Given the description of an element on the screen output the (x, y) to click on. 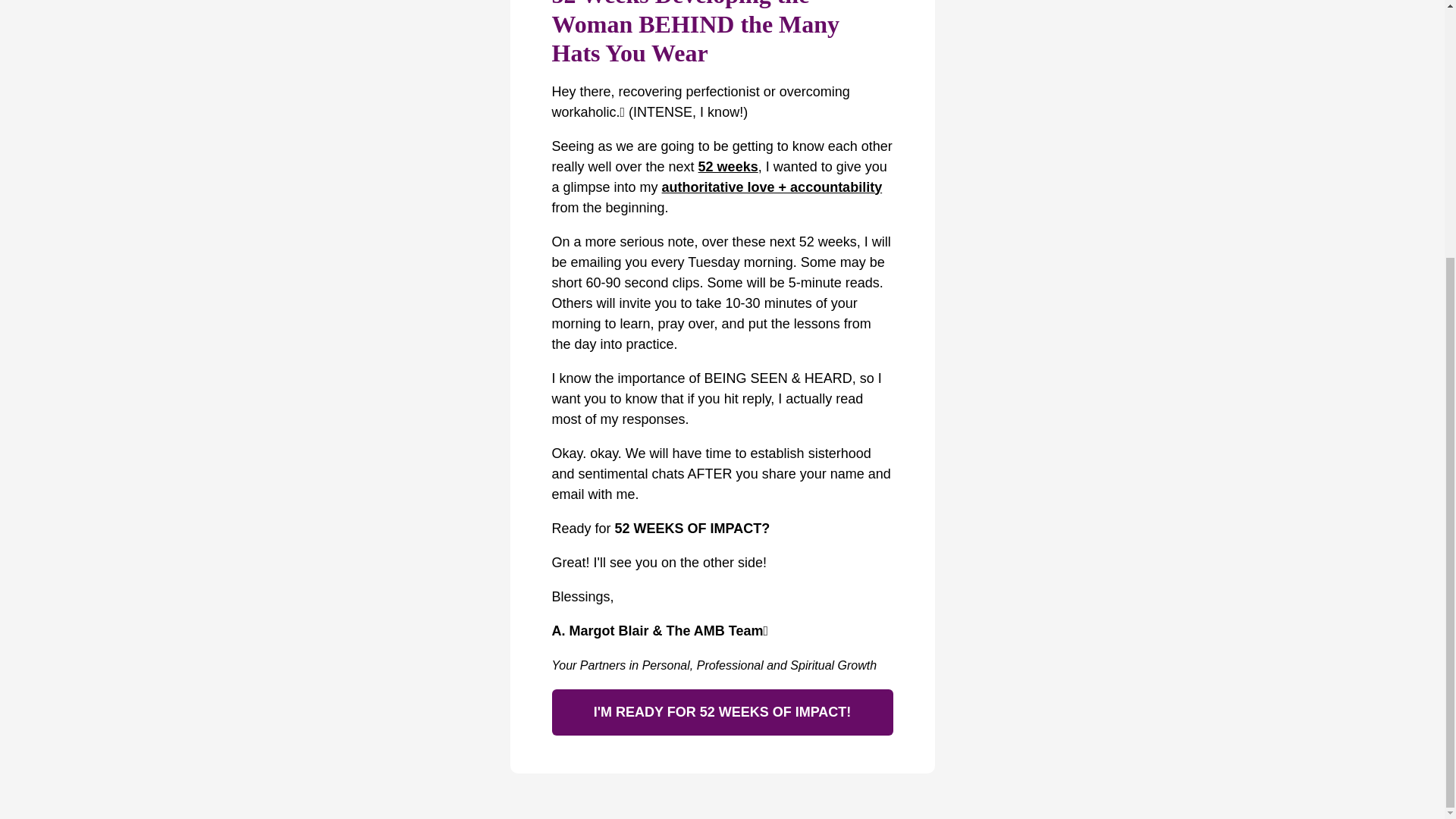
I'M READY FOR 52 WEEKS OF IMPACT! (722, 712)
